Given the description of an element on the screen output the (x, y) to click on. 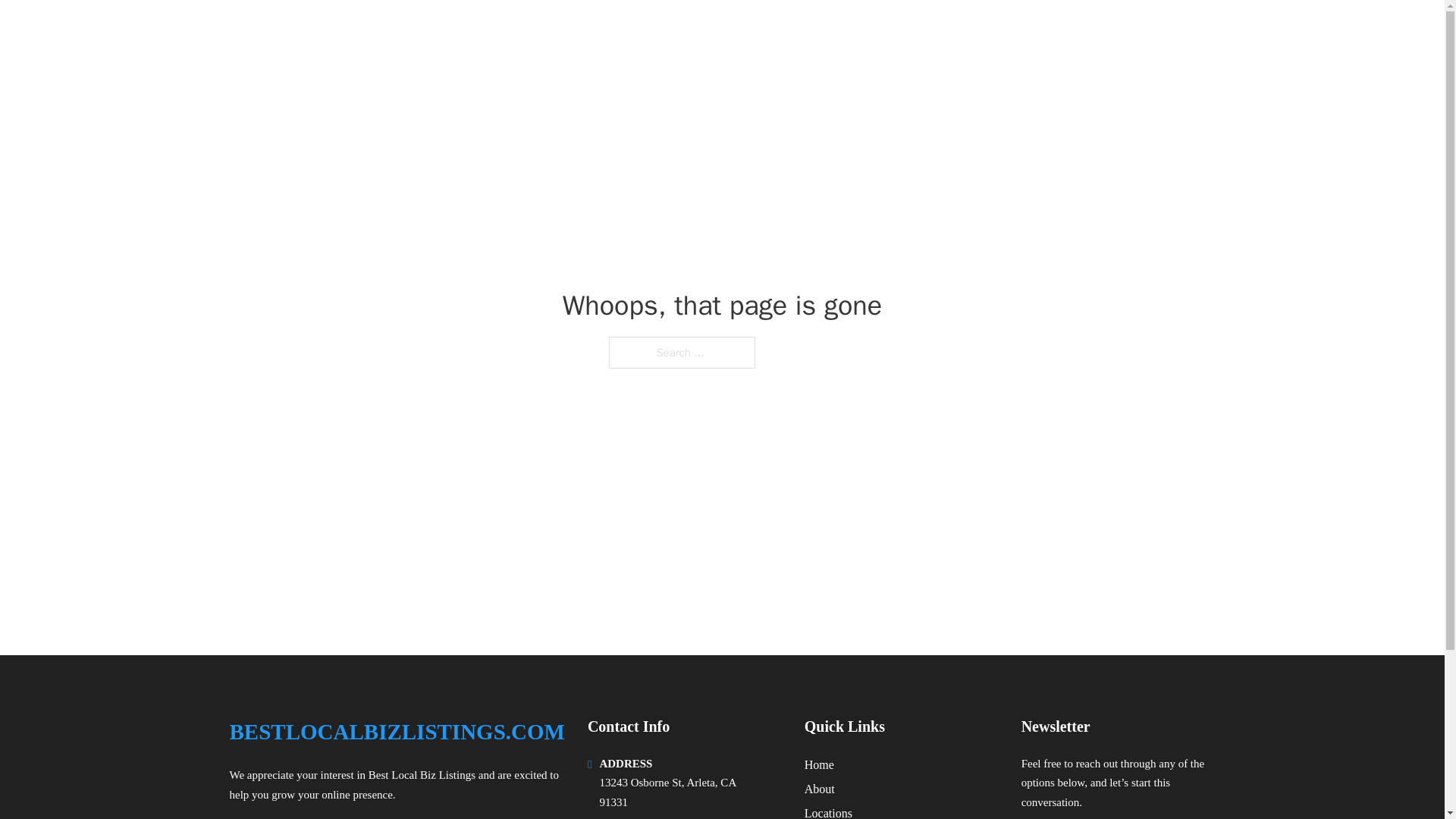
BESTLOCALBIZLISTINGS.COM (413, 31)
HOME (1025, 31)
BESTLOCALBIZLISTINGS.COM (396, 732)
Home (819, 764)
LOCATIONS (1098, 31)
About (819, 788)
Locations (828, 811)
